Given the description of an element on the screen output the (x, y) to click on. 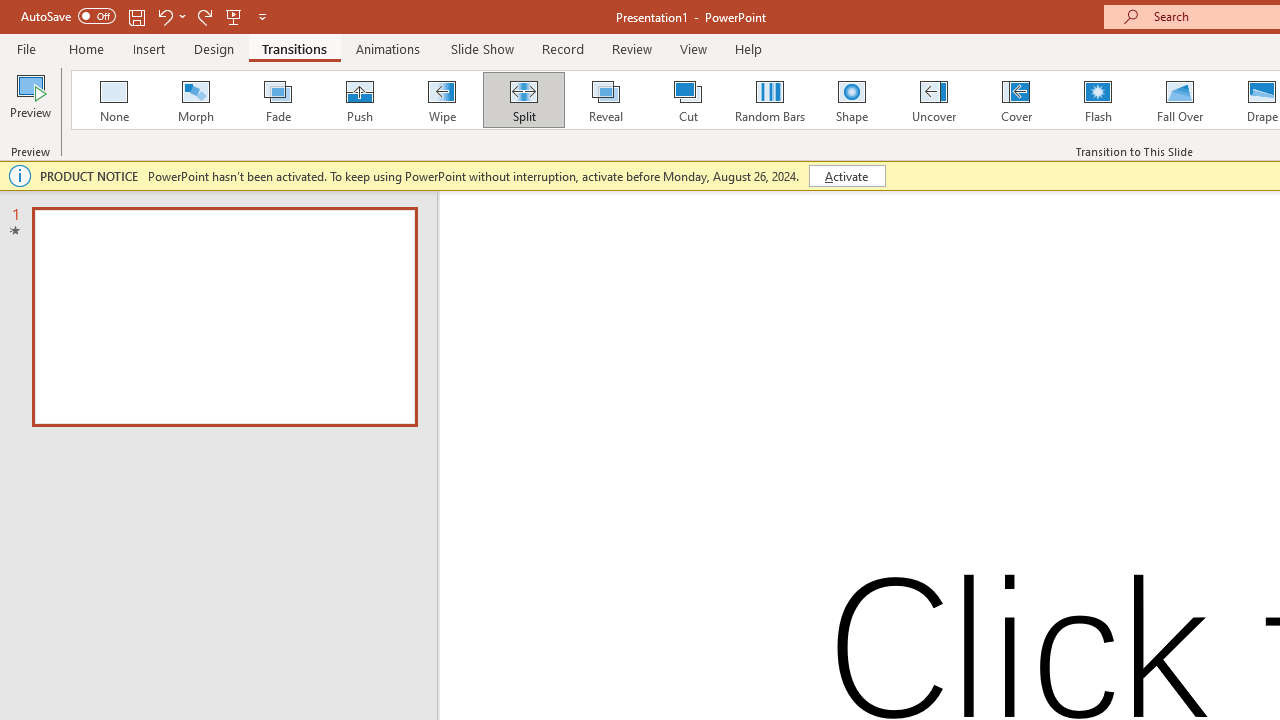
Morph (195, 100)
Random Bars (770, 100)
Preview (30, 102)
